Given the description of an element on the screen output the (x, y) to click on. 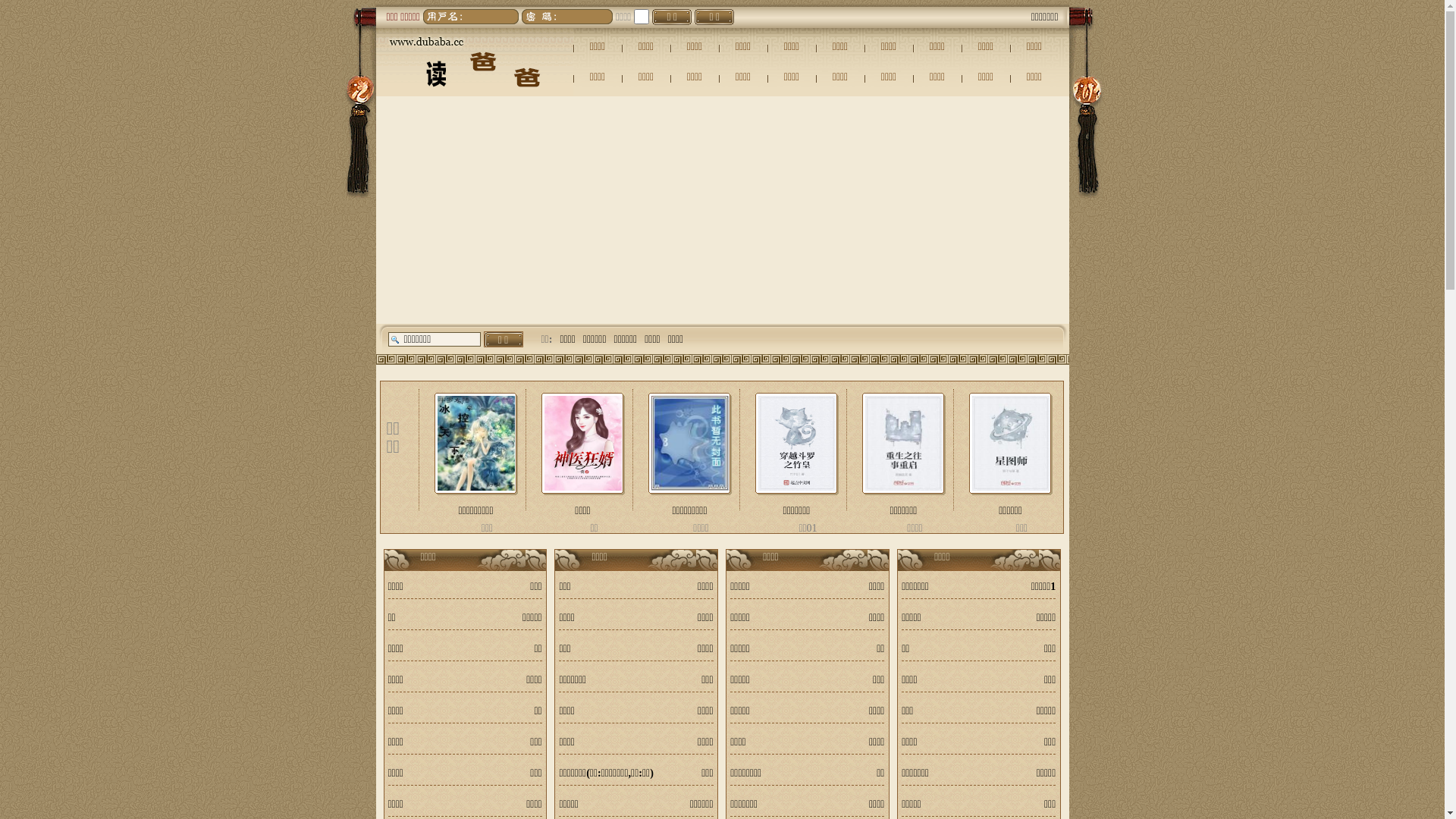
Advertisement Element type: hover (722, 209)
